Given the description of an element on the screen output the (x, y) to click on. 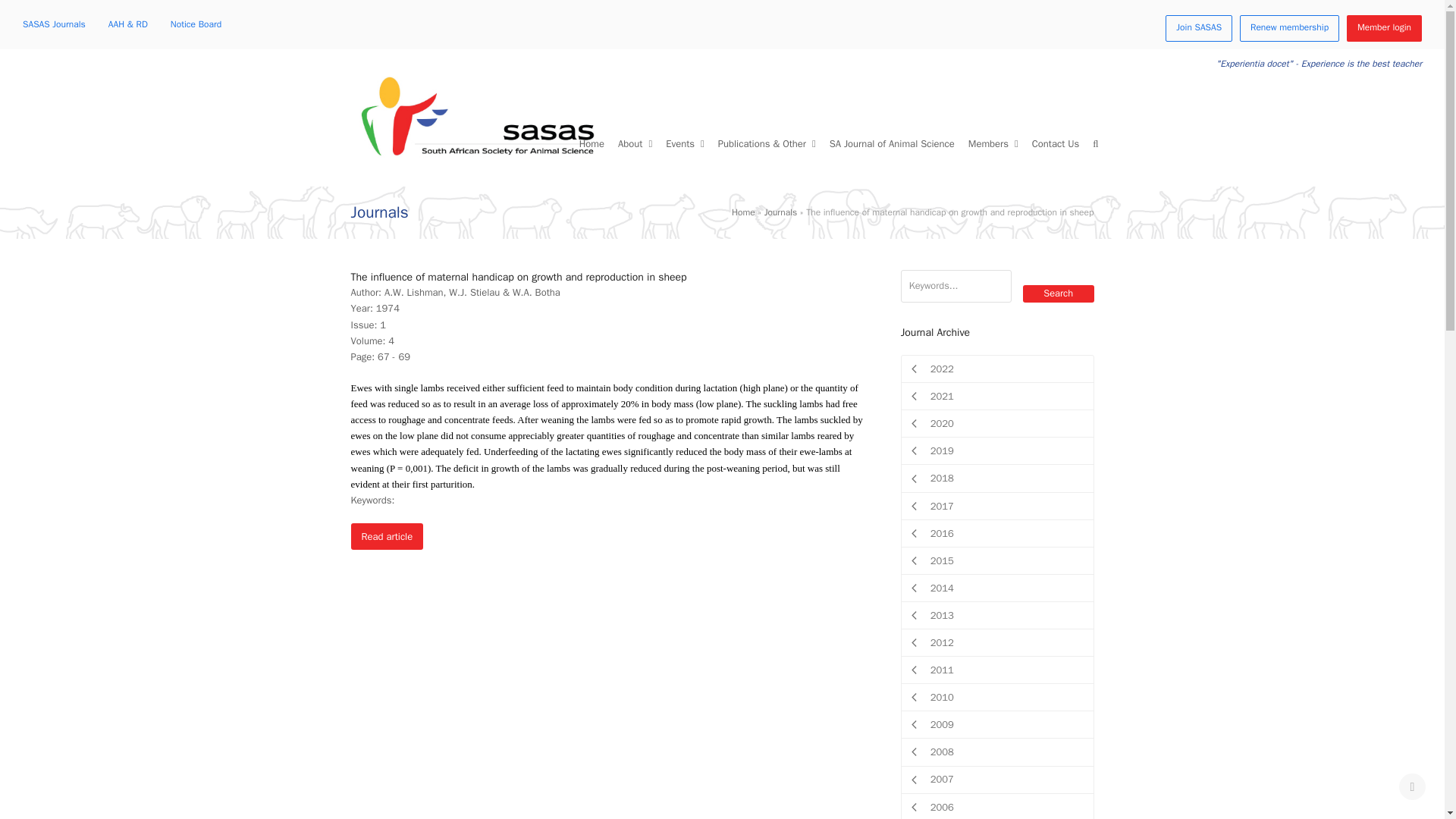
Members (992, 143)
Join SASAS (1198, 28)
SA Journal of Animal Science (891, 143)
Home (591, 143)
Notice Board (195, 20)
Member login (1384, 28)
Events (685, 143)
SASAS Journals (54, 20)
About (635, 143)
Renew membership (1289, 28)
